Given the description of an element on the screen output the (x, y) to click on. 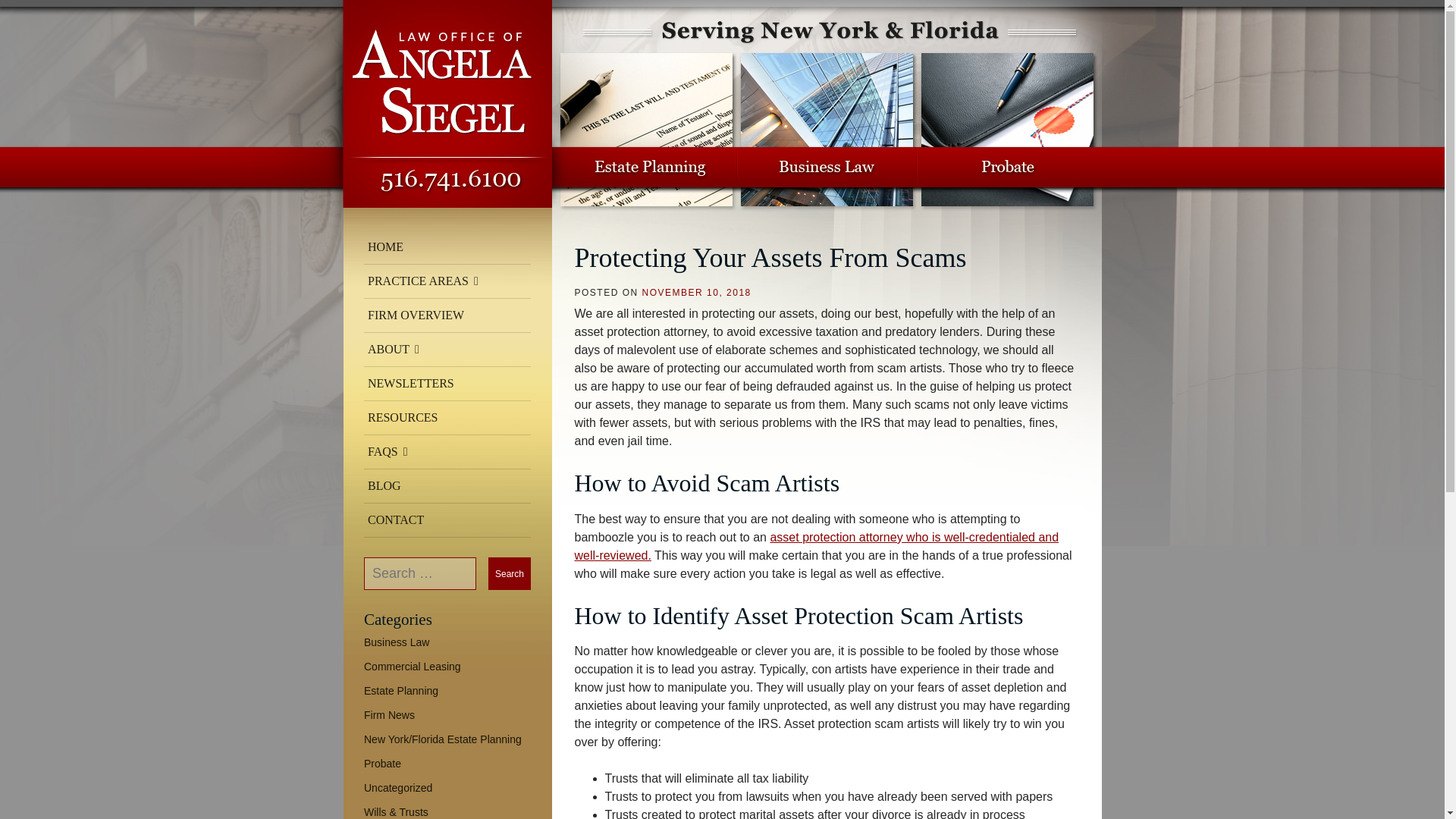
FIRM OVERVIEW (447, 315)
NOVEMBER 10, 2018 (696, 292)
Uncategorized (398, 787)
FAQS (447, 451)
Search (509, 573)
Search for: (420, 573)
PRACTICE AREAS (447, 281)
HOME (447, 247)
Business Law (396, 642)
BLOG (447, 486)
